Given the description of an element on the screen output the (x, y) to click on. 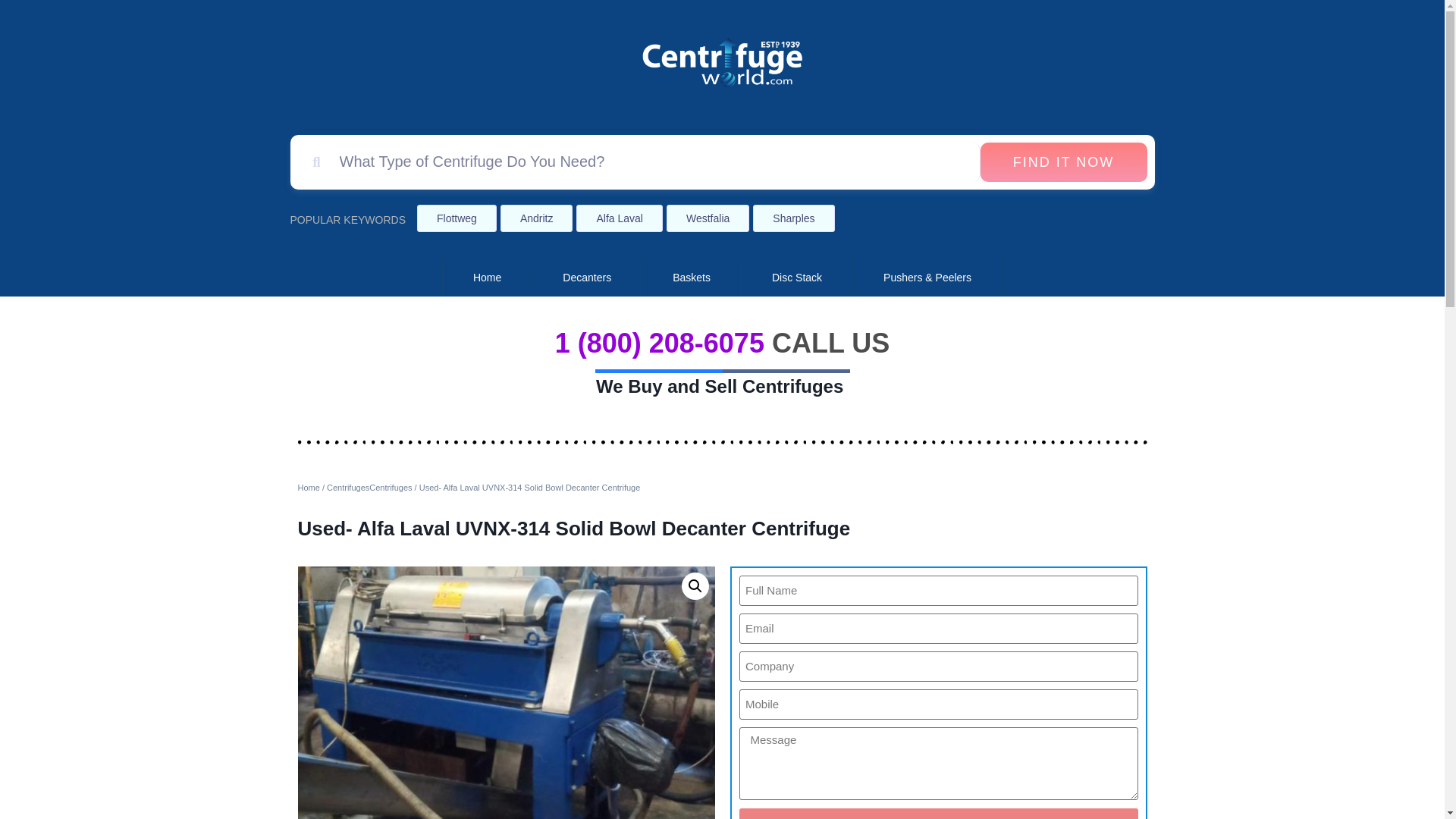
Flottweg (456, 217)
Baskets (691, 277)
Andritz (536, 217)
Home (487, 277)
Home (307, 487)
Disc Stack (797, 277)
FIND IT NOW (1063, 161)
CentrifugesCentrifuges (369, 487)
Westfalia (707, 217)
Alfa Laval (619, 217)
Sharples (793, 217)
Get Quote (937, 813)
Decanters (587, 277)
